Given the description of an element on the screen output the (x, y) to click on. 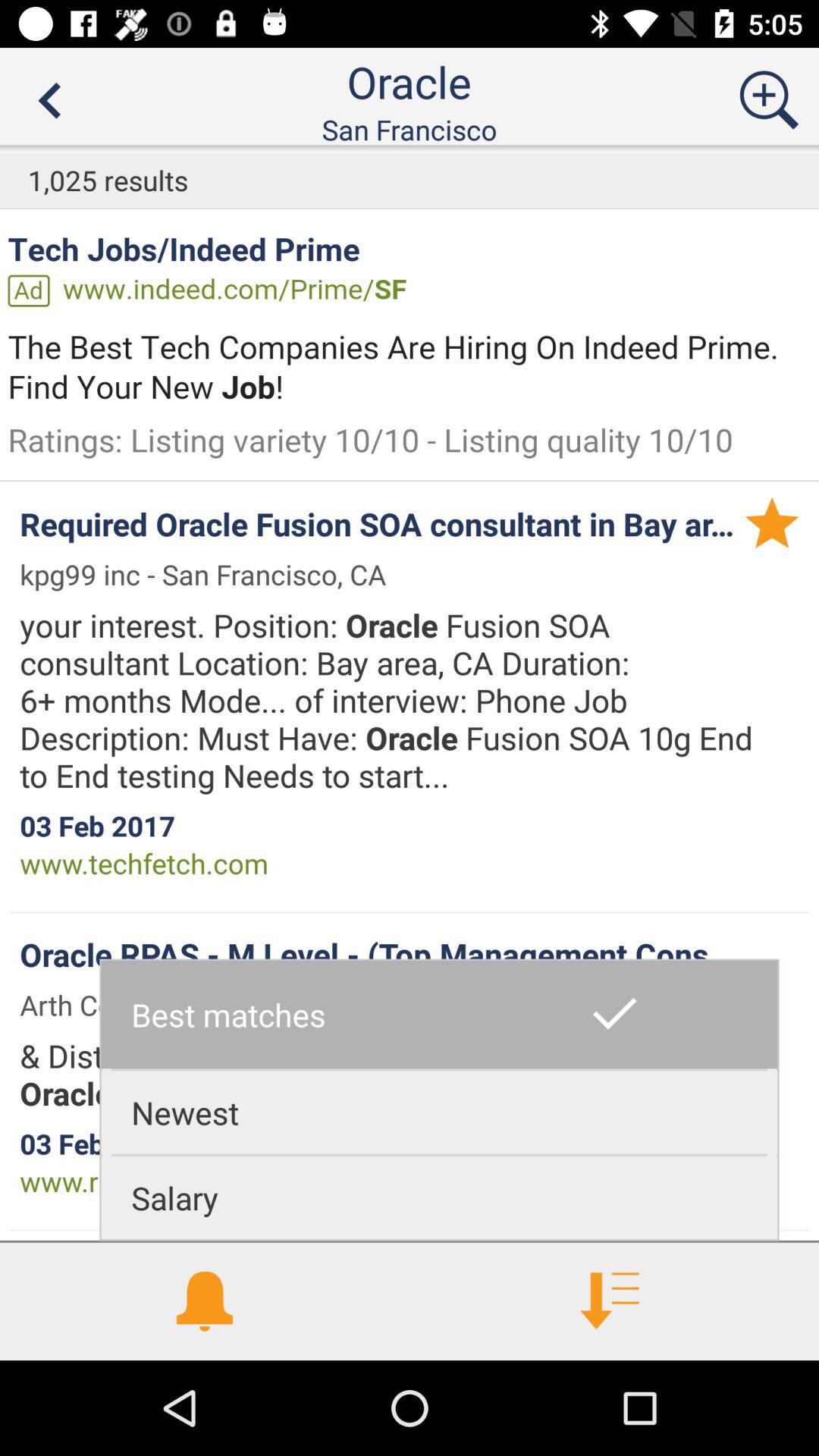
click the bottom right icon (614, 1301)
